Given the description of an element on the screen output the (x, y) to click on. 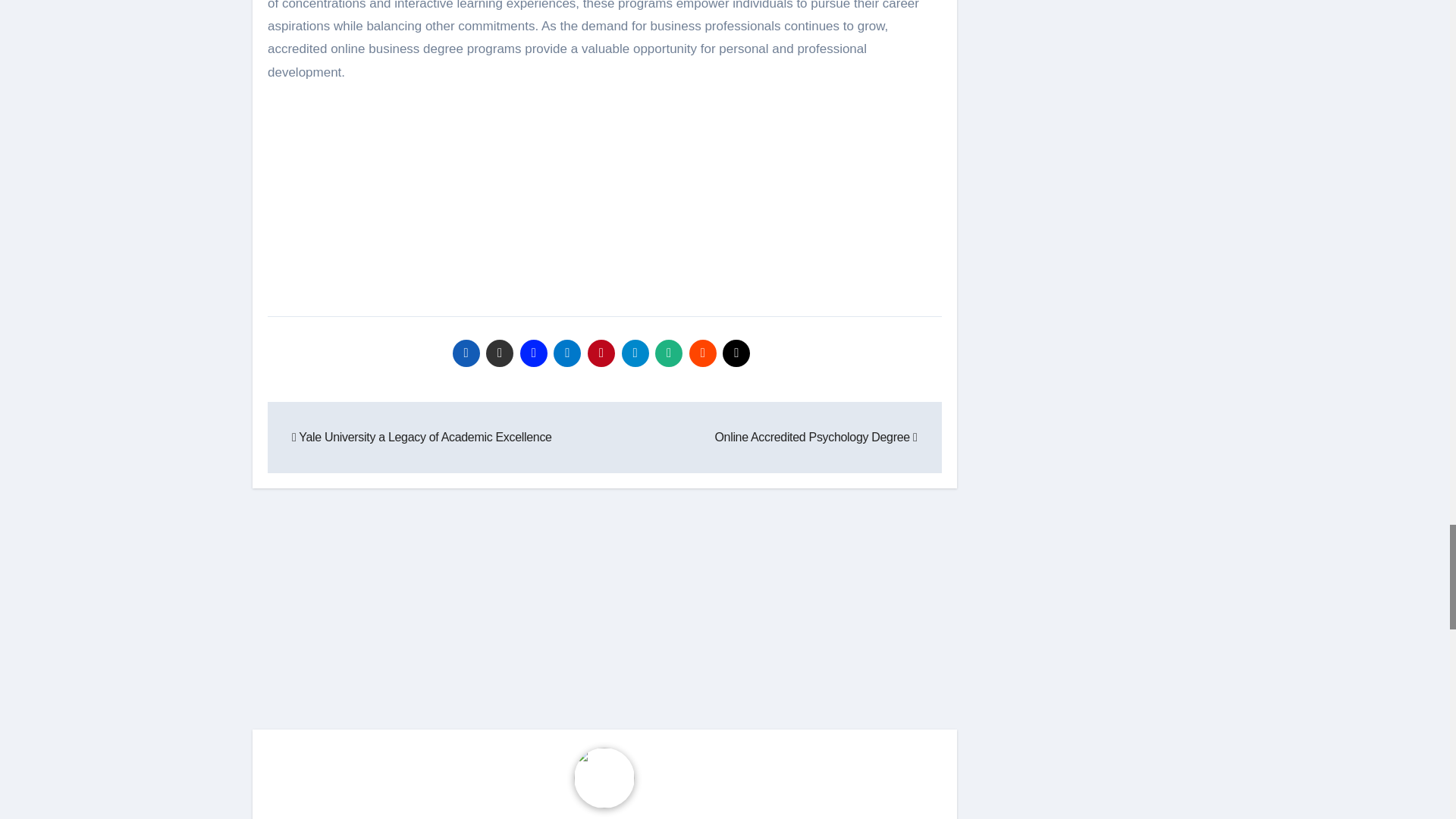
Online Accredited Psychology Degree (815, 436)
Yale University a Legacy of Academic Excellence (421, 436)
